Given the description of an element on the screen output the (x, y) to click on. 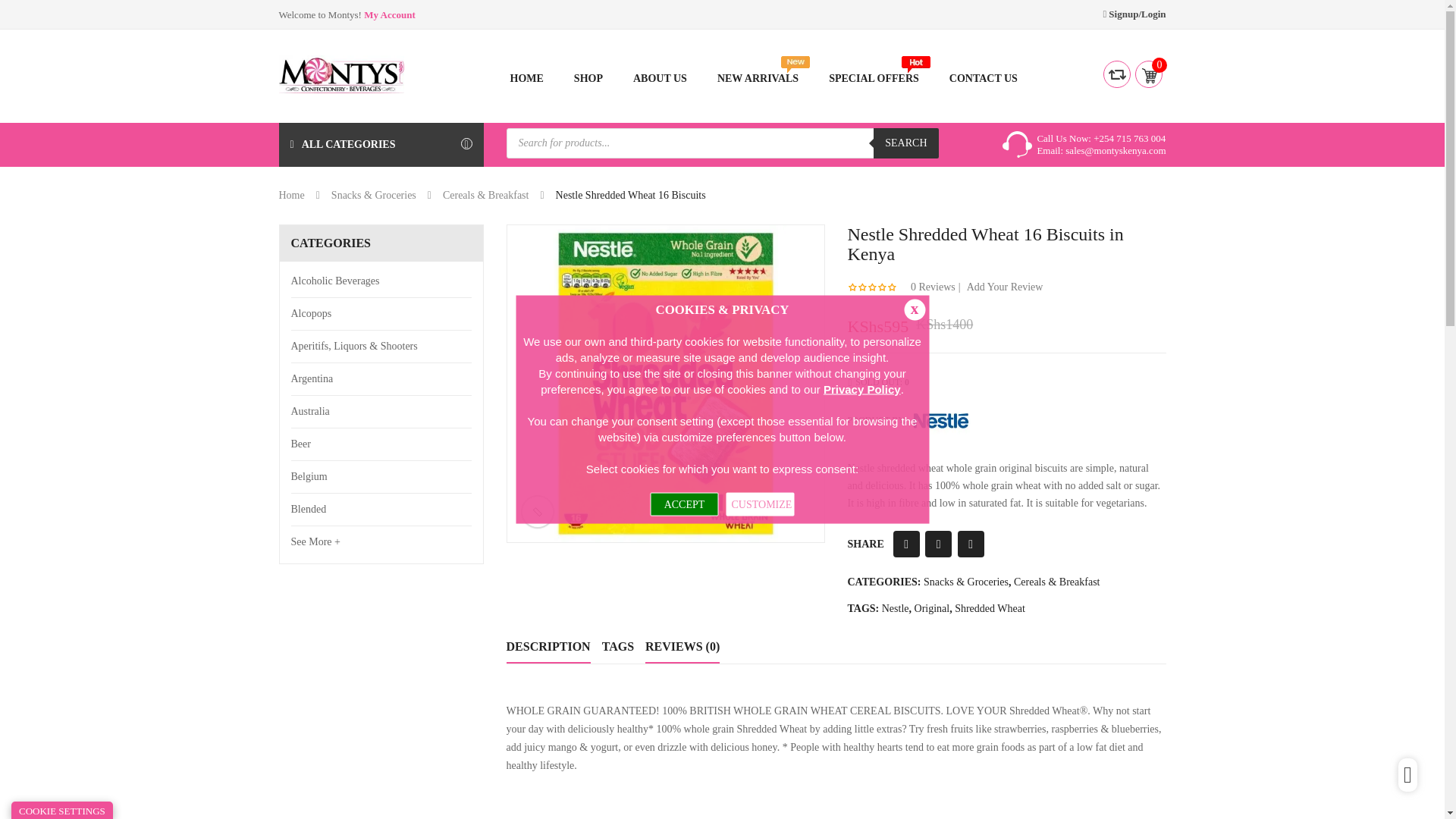
ABOUT US (659, 78)
CONTACT US (983, 78)
My Account (389, 14)
View your shopping cart (1147, 66)
SHOP (588, 78)
HOME (526, 78)
Nestle Shredded Wheat 16 Biscuits (665, 383)
SPECIAL OFFERS (873, 78)
NEW ARRIVALS (757, 78)
0 (1147, 66)
